Given the description of an element on the screen output the (x, y) to click on. 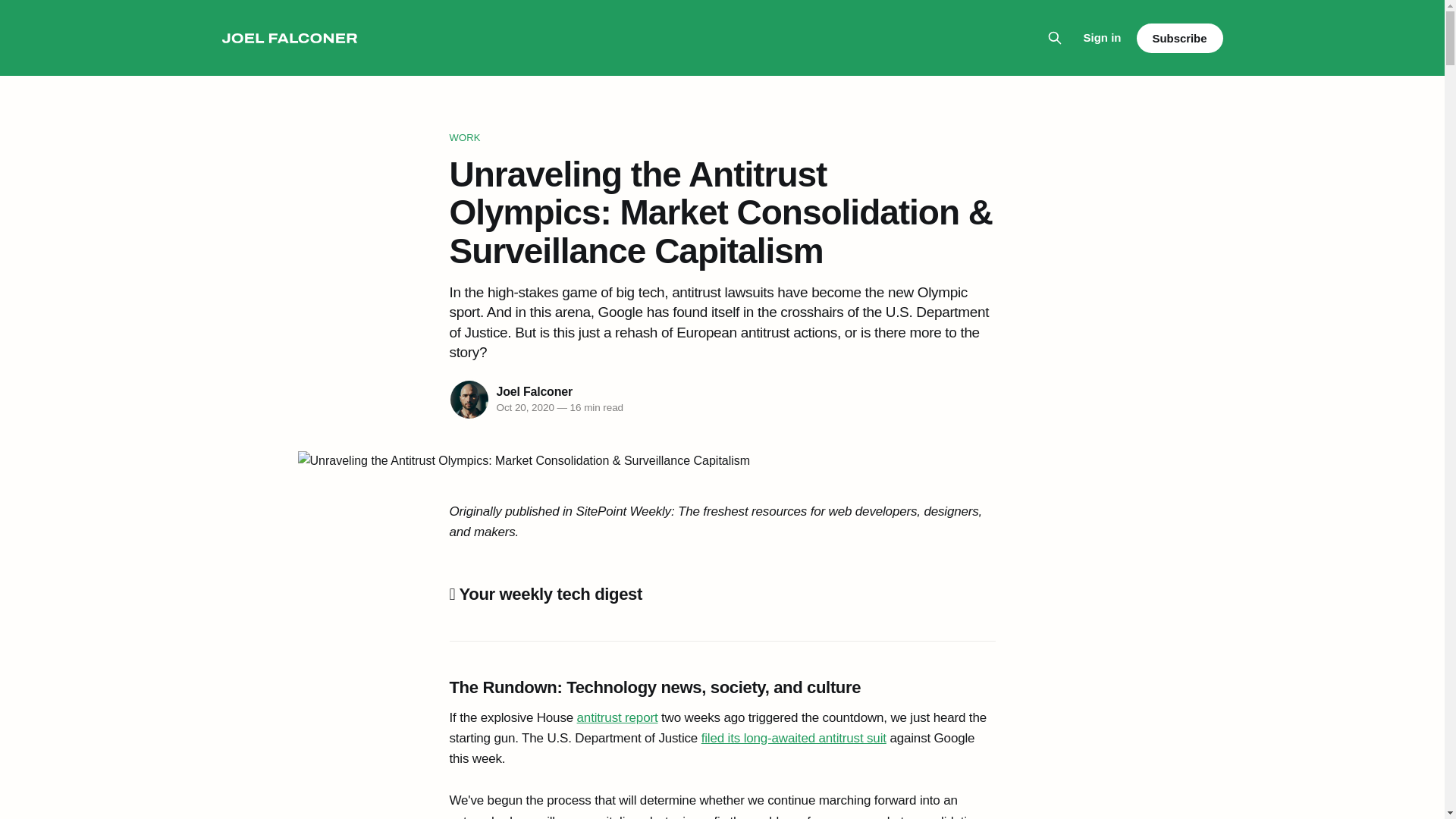
WORK (721, 138)
Joel Falconer (534, 391)
filed its long-awaited antitrust suit (793, 738)
antitrust report (617, 717)
Subscribe (1179, 37)
Sign in (1102, 37)
